Given the description of an element on the screen output the (x, y) to click on. 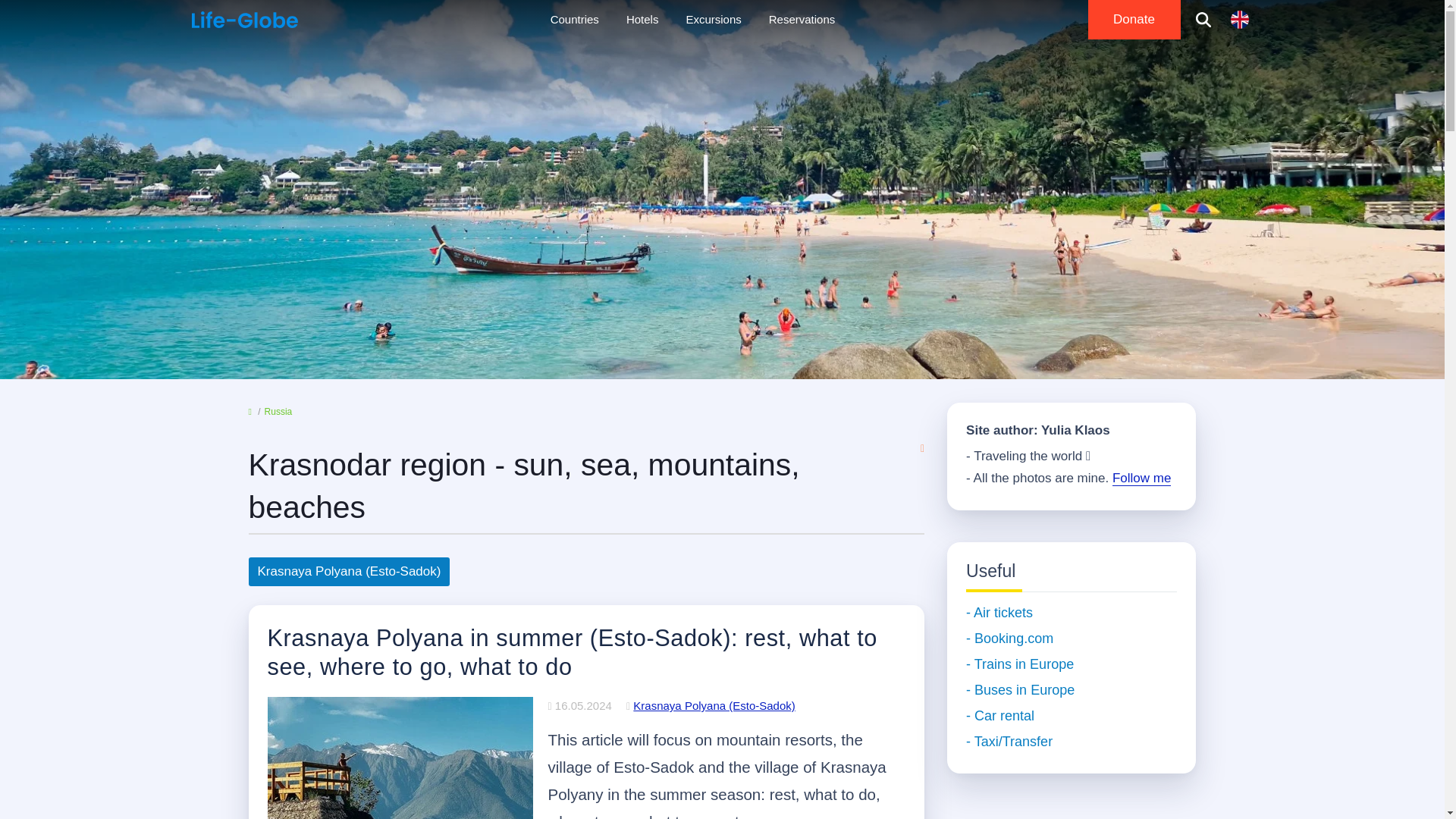
Excursions (712, 19)
Countries (574, 19)
English (1238, 19)
Hotels (642, 19)
Reservations (801, 19)
Guides travels life-globe.com (243, 19)
Category:  (710, 705)
